Given the description of an element on the screen output the (x, y) to click on. 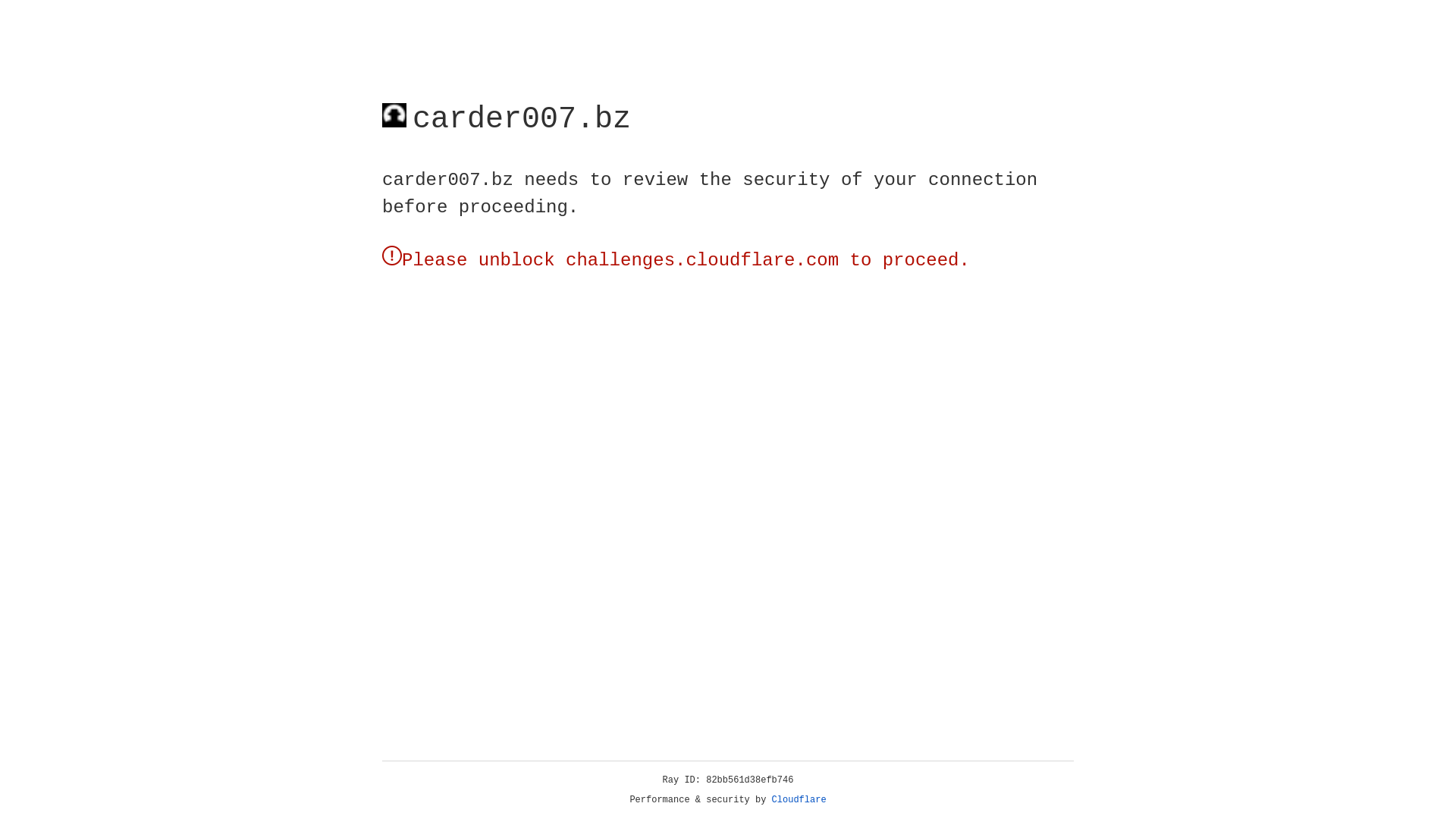
Cloudflare Element type: text (798, 799)
